Given the description of an element on the screen output the (x, y) to click on. 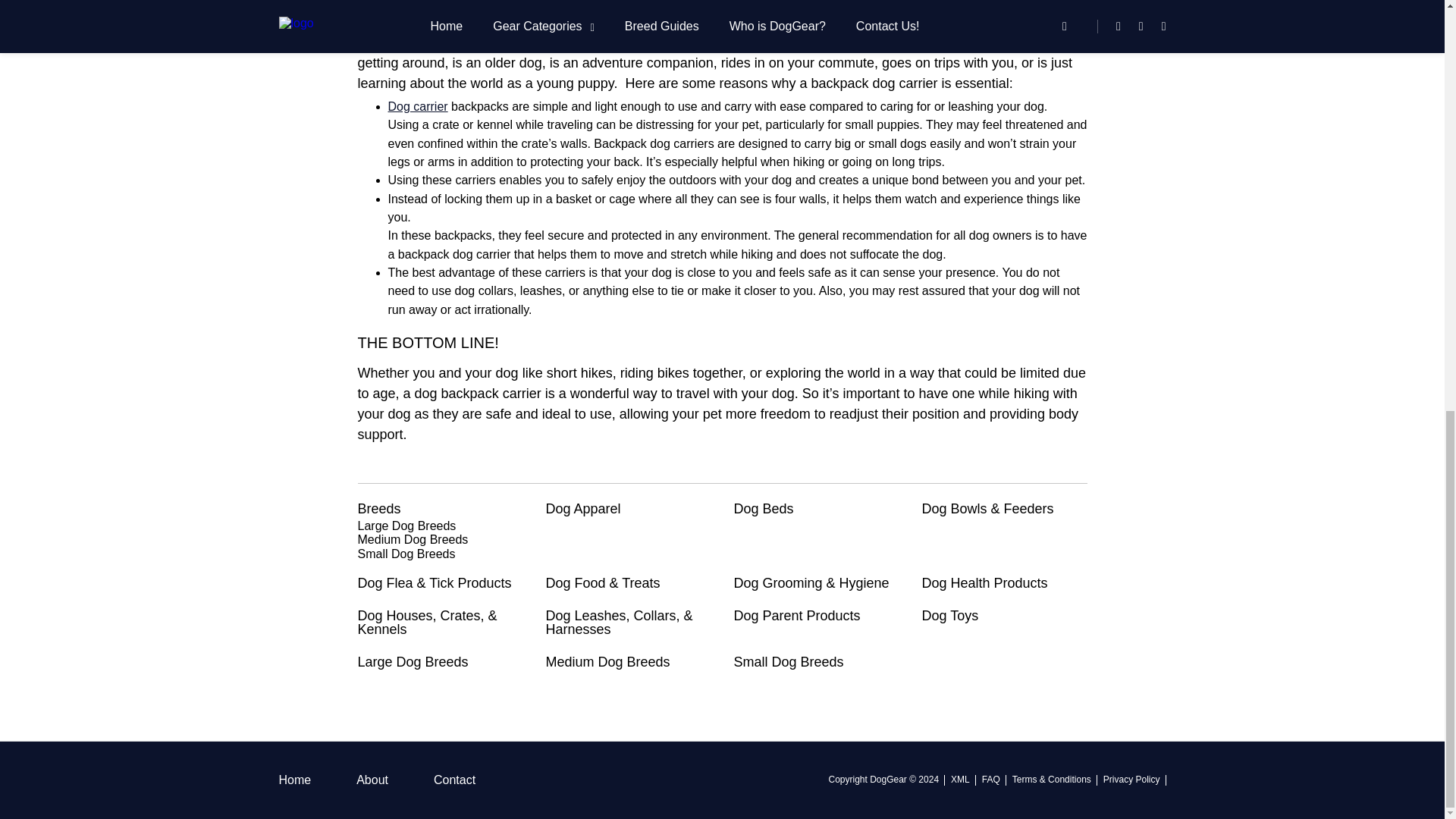
Dog Health Products (1004, 582)
Large Dog Breeds (407, 525)
Dog Apparel (628, 508)
Dog carrier (418, 106)
Small Dog Breeds (406, 553)
Medium Dog Breeds (413, 539)
Dog Beds (816, 508)
Breeds (440, 508)
